Given the description of an element on the screen output the (x, y) to click on. 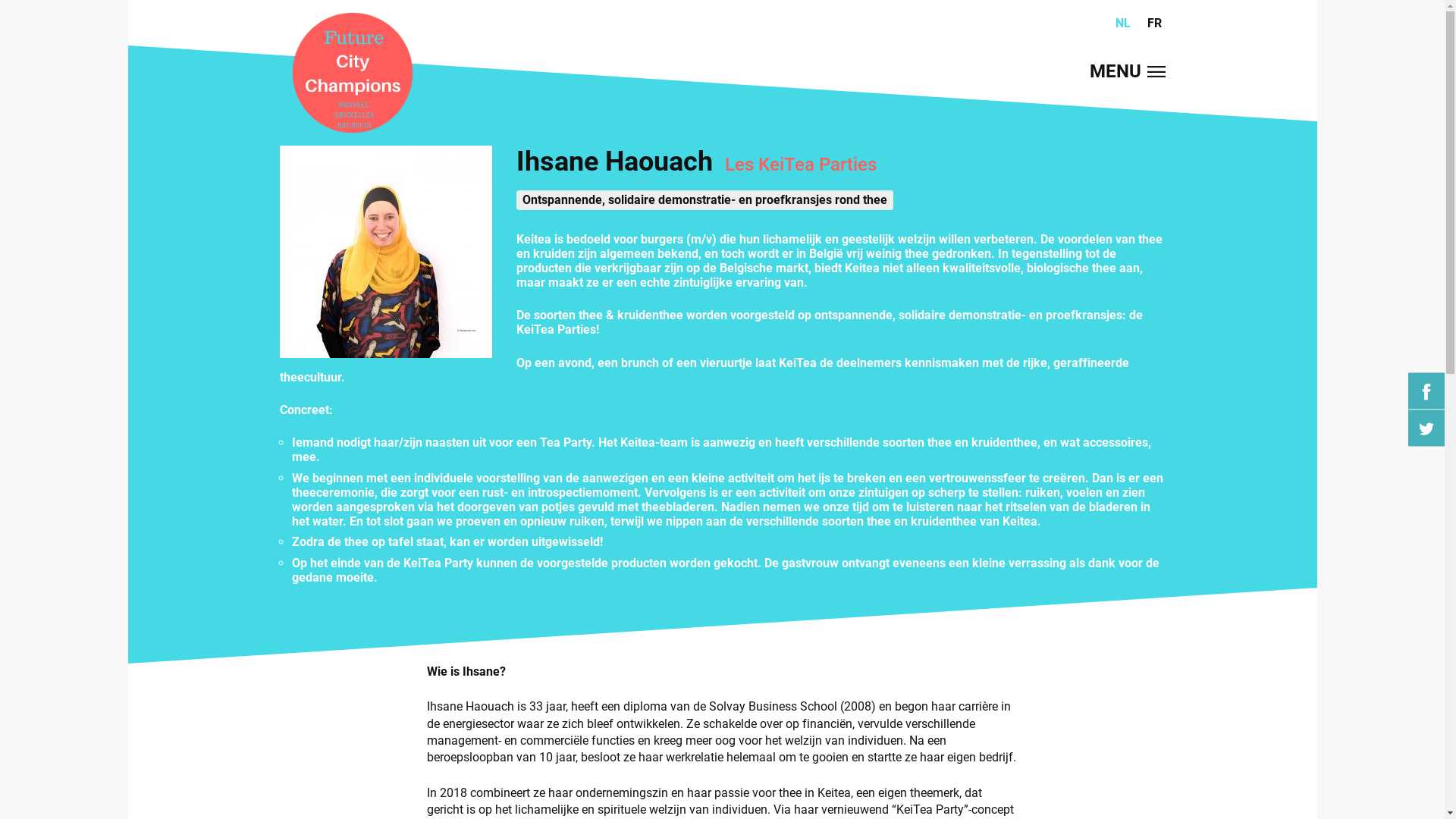
MENU Element type: text (1126, 71)
FR Element type: text (1154, 23)
facebook Element type: text (1426, 391)
Ihsane Haouach, KeiTea Parties, Future City Champion 2019 Element type: hover (385, 251)
NL Element type: text (1122, 23)
Skip to main content Element type: text (55, 0)
Home Element type: hover (351, 74)
twitter Element type: text (1426, 427)
